Given the description of an element on the screen output the (x, y) to click on. 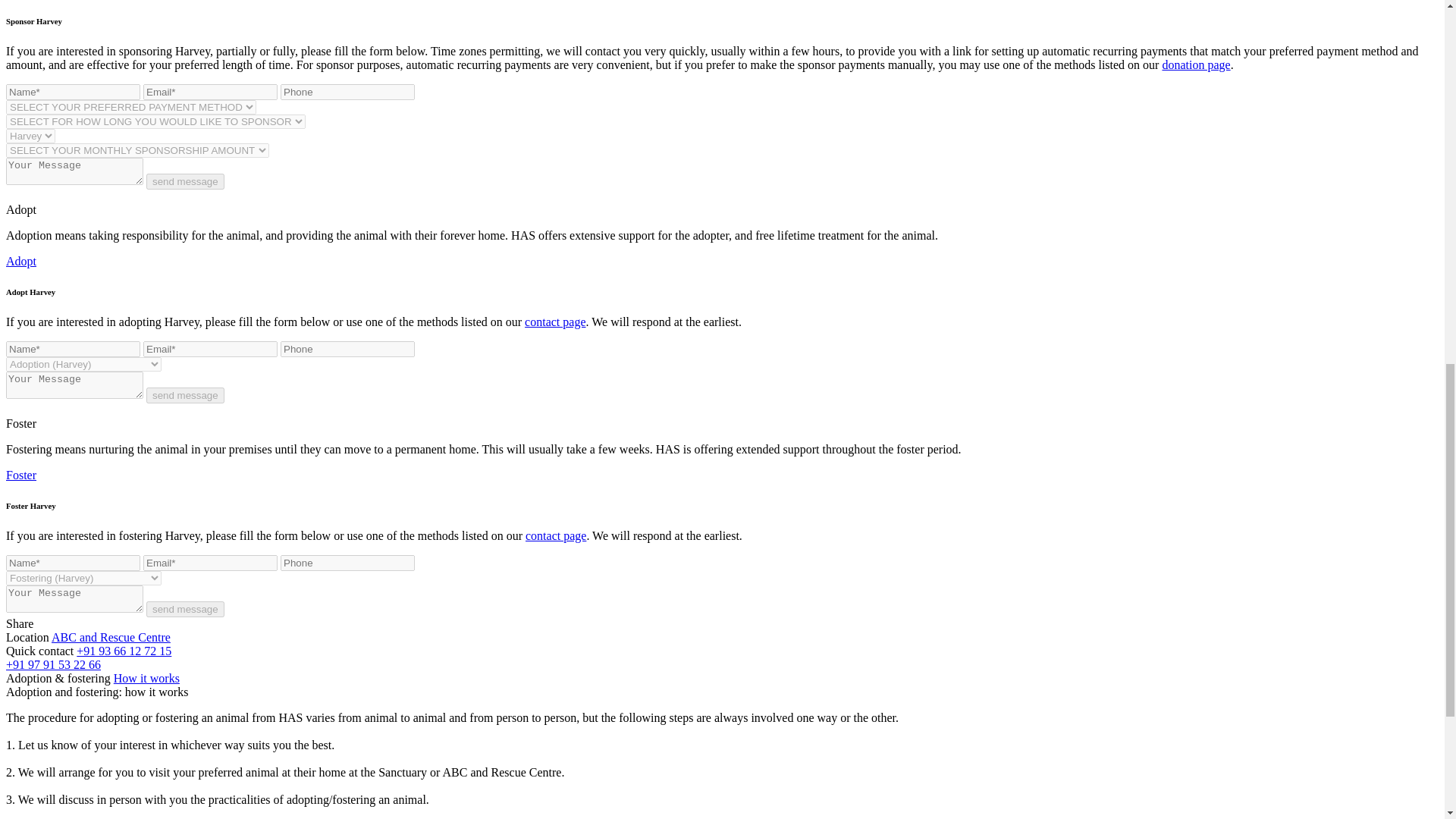
send message (185, 181)
Adopt (20, 260)
send message (185, 609)
Foster (20, 474)
donation page (1195, 64)
contact page (554, 321)
contact page (555, 535)
send message (185, 395)
